Given the description of an element on the screen output the (x, y) to click on. 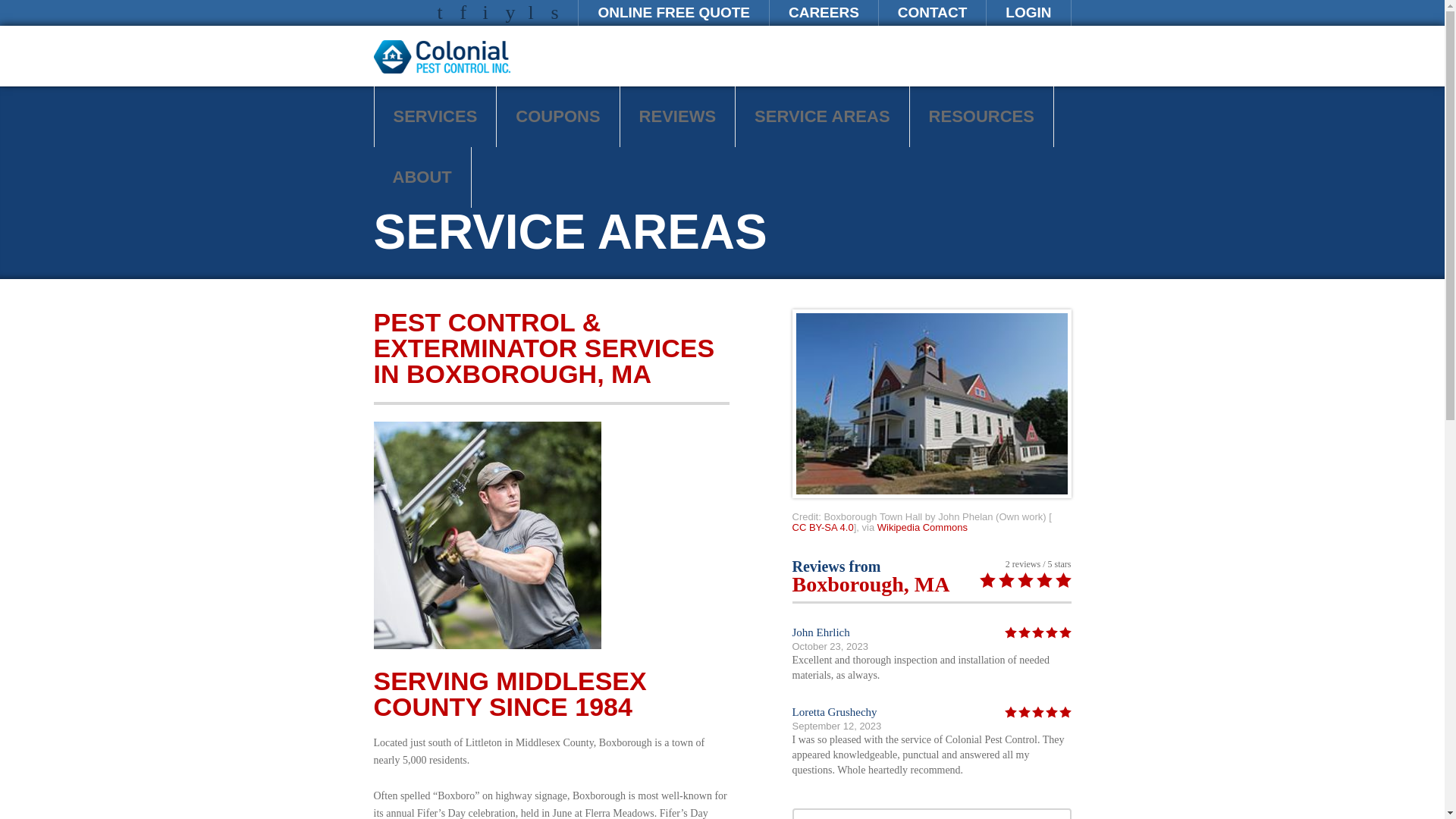
RESOURCES (981, 116)
LOGIN (1028, 12)
REVIEWS (677, 116)
CAREERS (823, 12)
SERVICES (435, 116)
ONLINE FREE QUOTE (673, 12)
SERVICE AREAS (821, 116)
CONTACT (932, 12)
COUPONS (557, 116)
